Given the description of an element on the screen output the (x, y) to click on. 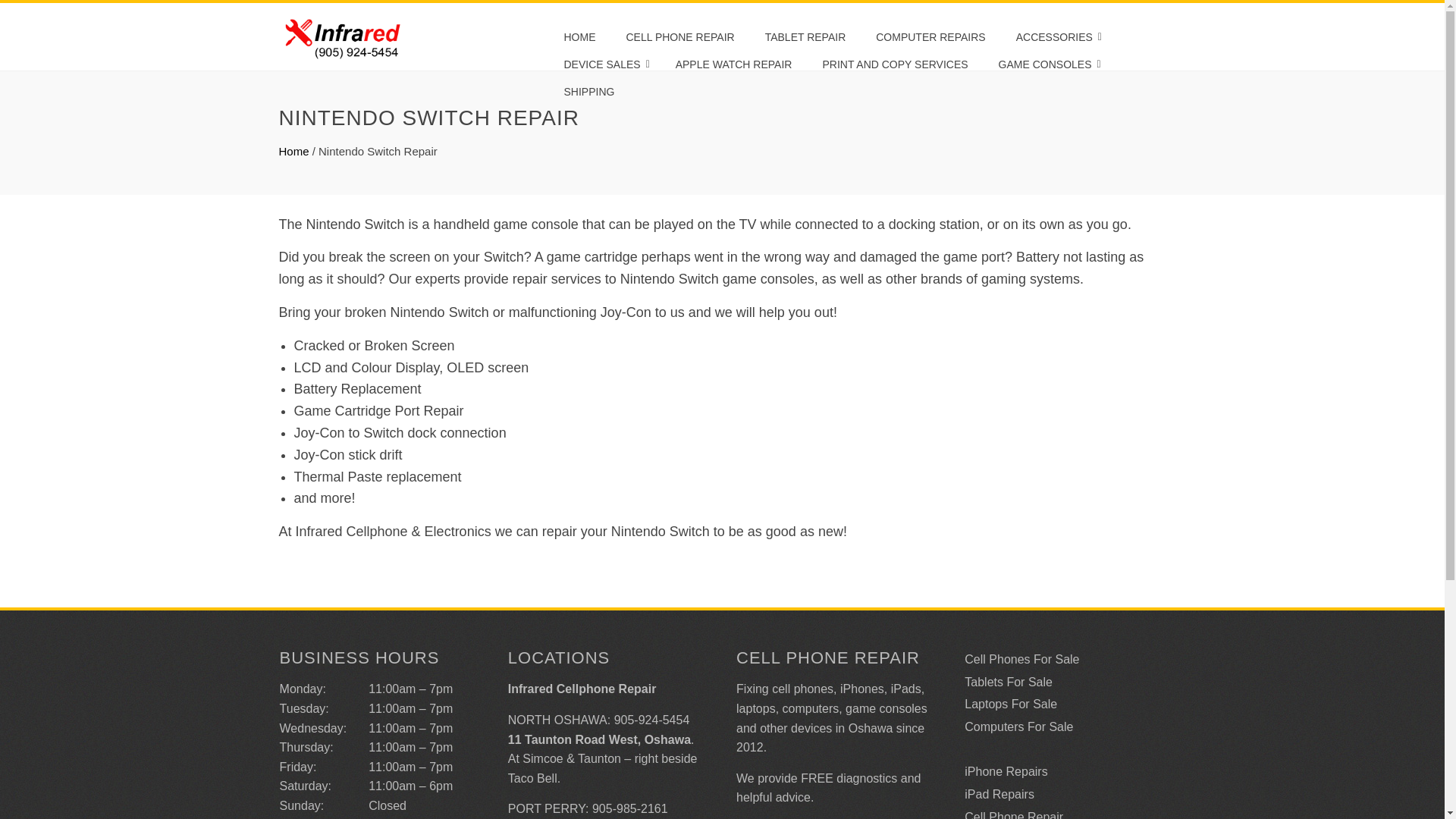
PRINT AND COPY SERVICES (894, 63)
APPLE WATCH REPAIR (733, 63)
Home (293, 151)
iPhone Repairs (1004, 771)
GAME CONSOLES (1047, 63)
ACCESSORIES (1056, 36)
Computers For Sale (1018, 726)
Cell Phones For Sale (1020, 658)
Laptops For Sale (1010, 703)
Tablets For Sale (1007, 681)
TABLET REPAIR (805, 36)
HOME (579, 36)
NORTH OSHAWA (557, 719)
CELL PHONE REPAIR (679, 36)
SHIPPING (588, 91)
